Given the description of an element on the screen output the (x, y) to click on. 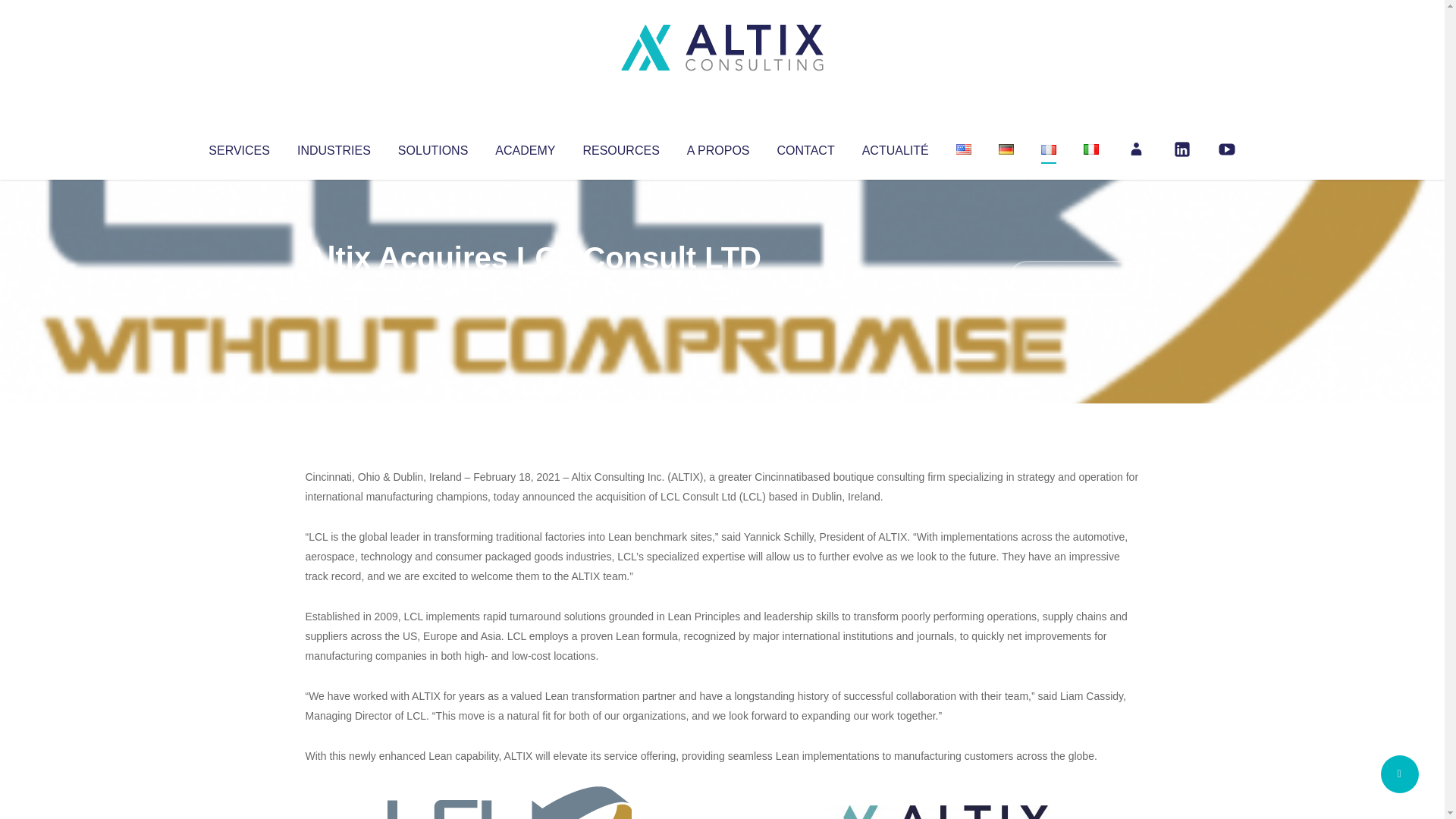
A PROPOS (718, 146)
SERVICES (238, 146)
No Comments (1073, 278)
SOLUTIONS (432, 146)
RESOURCES (620, 146)
Altix (333, 287)
Articles par Altix (333, 287)
ACADEMY (524, 146)
INDUSTRIES (334, 146)
Uncategorized (530, 287)
